Given the description of an element on the screen output the (x, y) to click on. 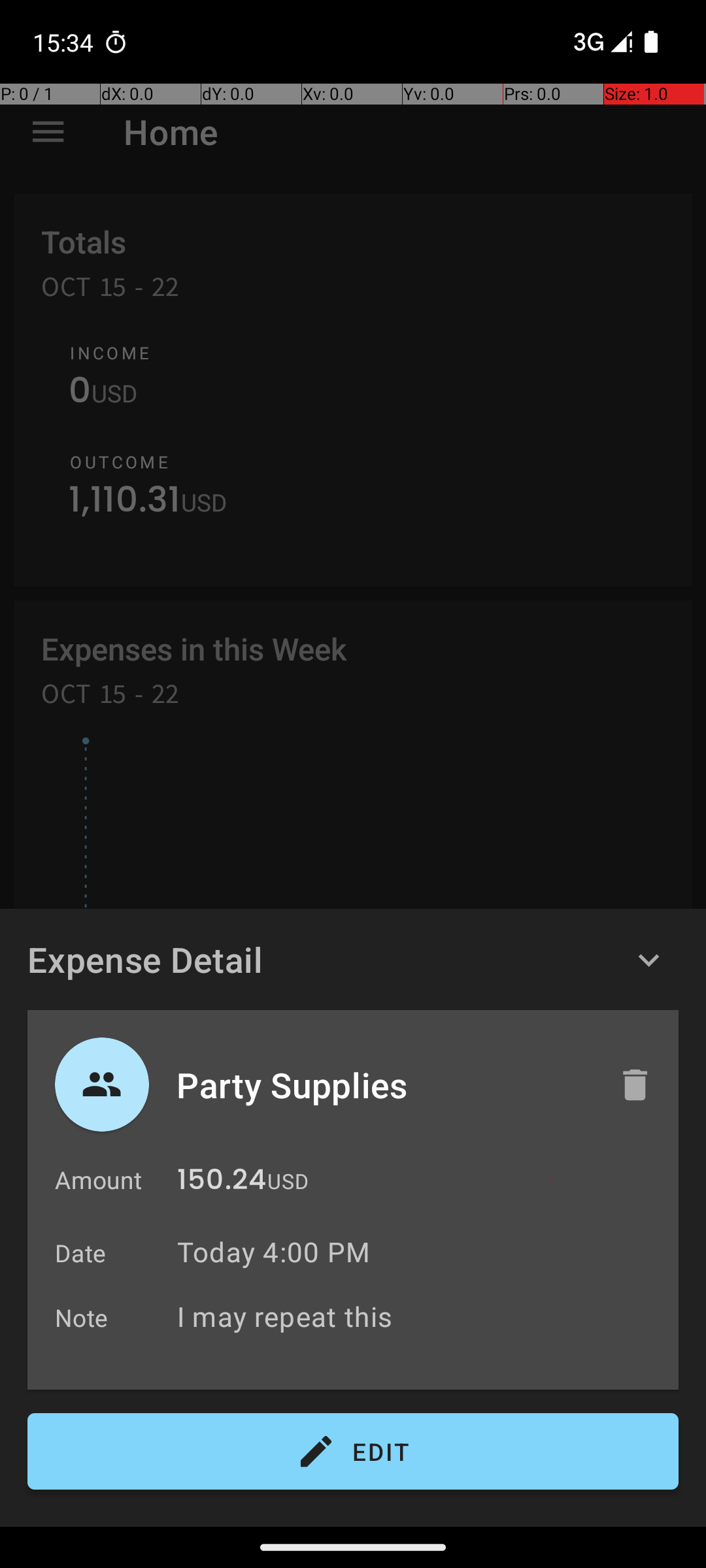
150.24 Element type: android.widget.TextView (221, 1182)
